Given the description of an element on the screen output the (x, y) to click on. 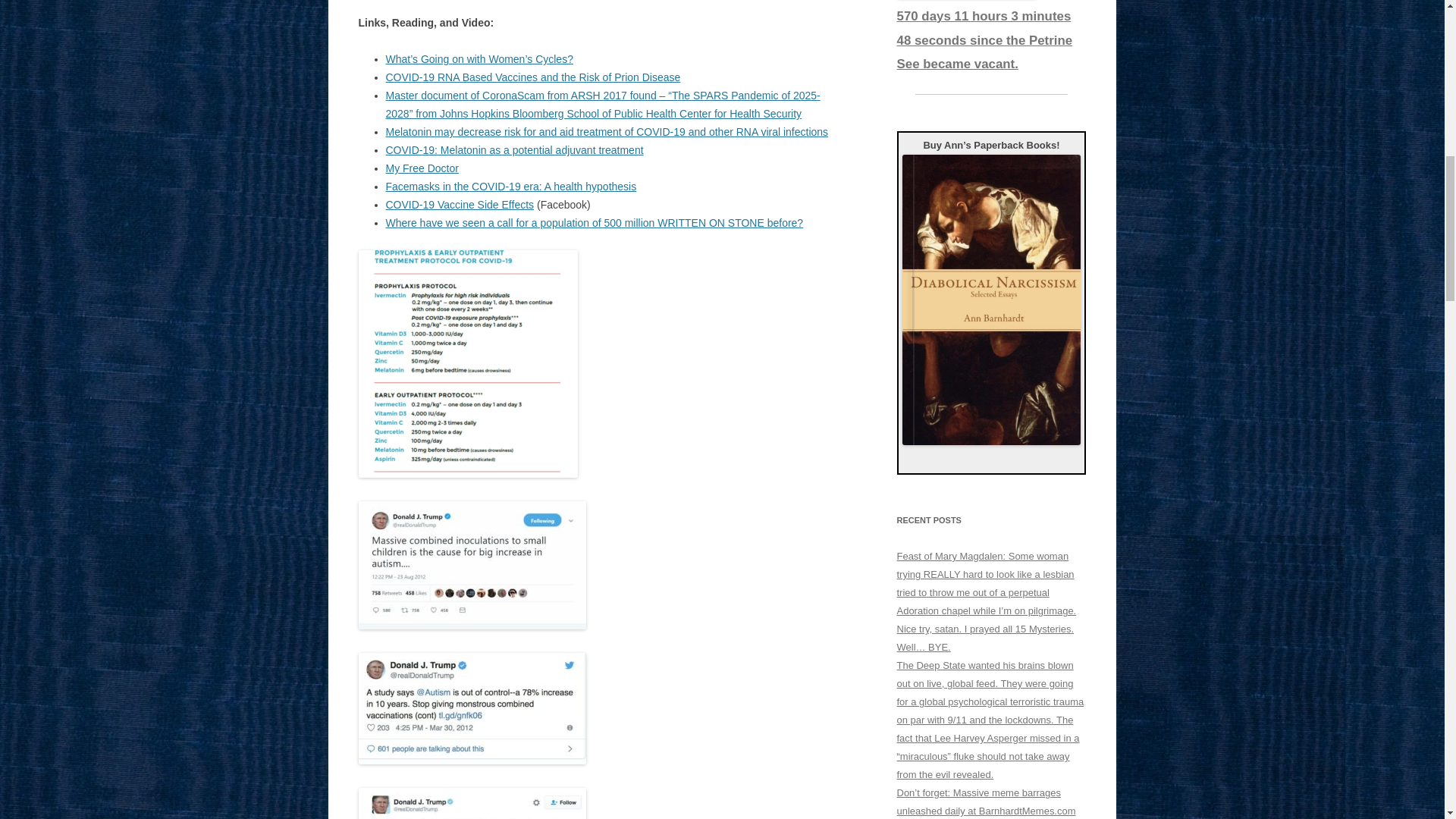
COVID-19 RNA Based Vaccines and the Risk of Prion Disease (532, 77)
COVID-19 Vaccine Side Effects (459, 204)
Facemasks in the COVID-19 era: A health hypothesis (510, 186)
My Free Doctor (421, 168)
COVID-19: Melatonin as a potential adjuvant treatment (514, 150)
